Given the description of an element on the screen output the (x, y) to click on. 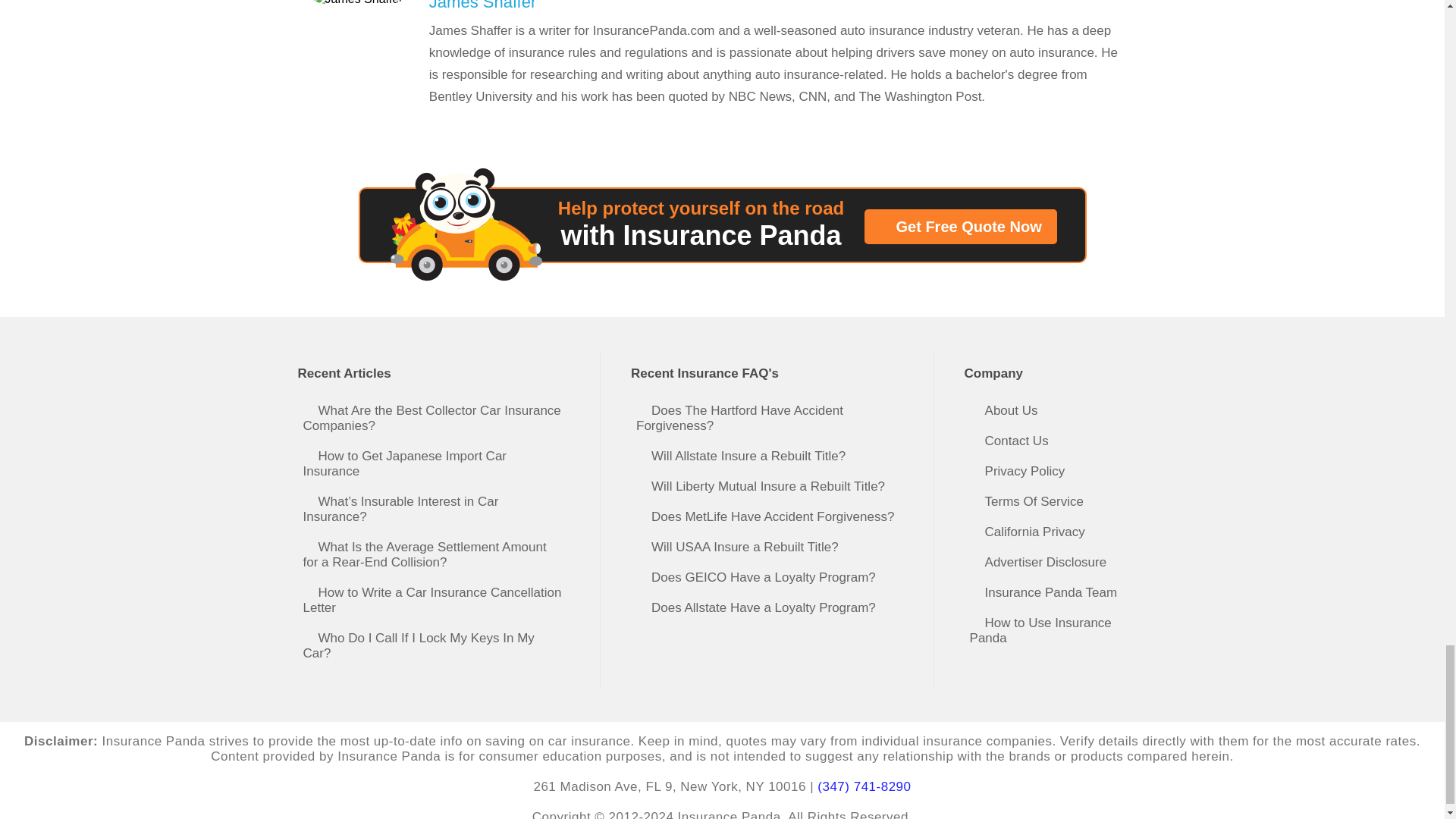
Does The Hartford Have Accident Forgiveness? (769, 418)
How to Get Japanese Import Car Insurance (436, 464)
Who Do I Call If I Lock My Keys In My Car? (436, 646)
How to Write a Car Insurance Cancellation Letter (436, 600)
What Are the Best Collector Car Insurance Companies? (436, 418)
Get Free Quote Now (960, 226)
Will Liberty Mutual Insure a Rebuilt Title? (769, 486)
James Shaffer (775, 18)
Will Allstate Insure a Rebuilt Title? (769, 456)
